Given the description of an element on the screen output the (x, y) to click on. 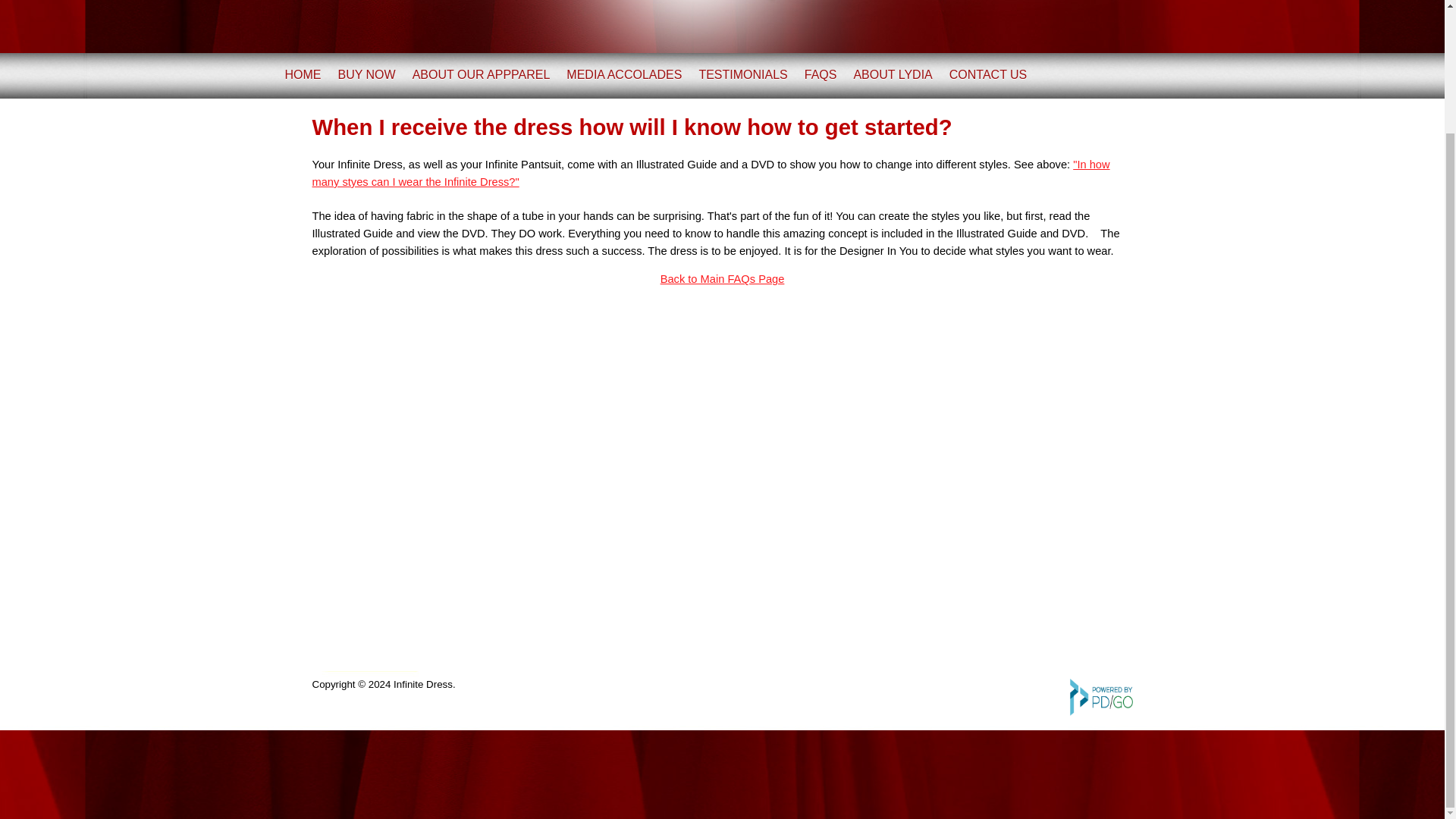
FAQS (821, 74)
ABOUT LYDIA (892, 74)
TESTIMONIALS (742, 74)
MEDIA ACCOLADES (623, 74)
"In how many styes can I wear the Infinite Dress?" (711, 173)
Back to Main FAQs Page (722, 278)
HOME (303, 74)
CONTACT US (988, 74)
BUY NOW (366, 74)
